Given the description of an element on the screen output the (x, y) to click on. 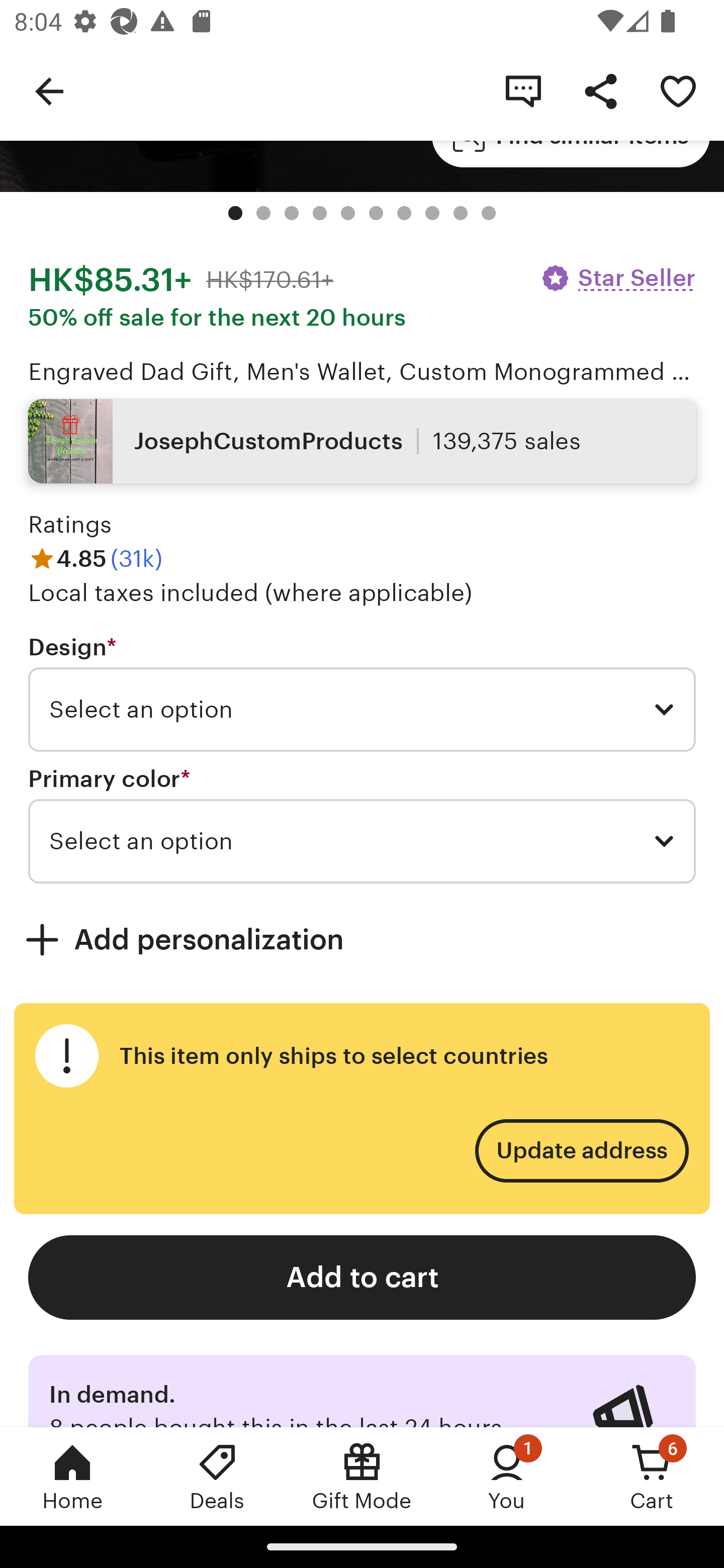
Navigate up (49, 90)
Contact shop (523, 90)
Share (600, 90)
Star Seller (617, 277)
JosephCustomProducts 139,375 sales (361, 440)
Ratings (70, 524)
4.85 (31k) (95, 558)
Design * Required Select an option (361, 692)
Select an option (361, 709)
Primary color * Required Select an option (361, 823)
Select an option (361, 840)
Add personalization Add personalization Required (362, 938)
Update address (581, 1150)
Add to cart (361, 1277)
Deals (216, 1475)
Gift Mode (361, 1475)
You, 1 new notification You (506, 1475)
Cart, 6 new notifications Cart (651, 1475)
